Given the description of an element on the screen output the (x, y) to click on. 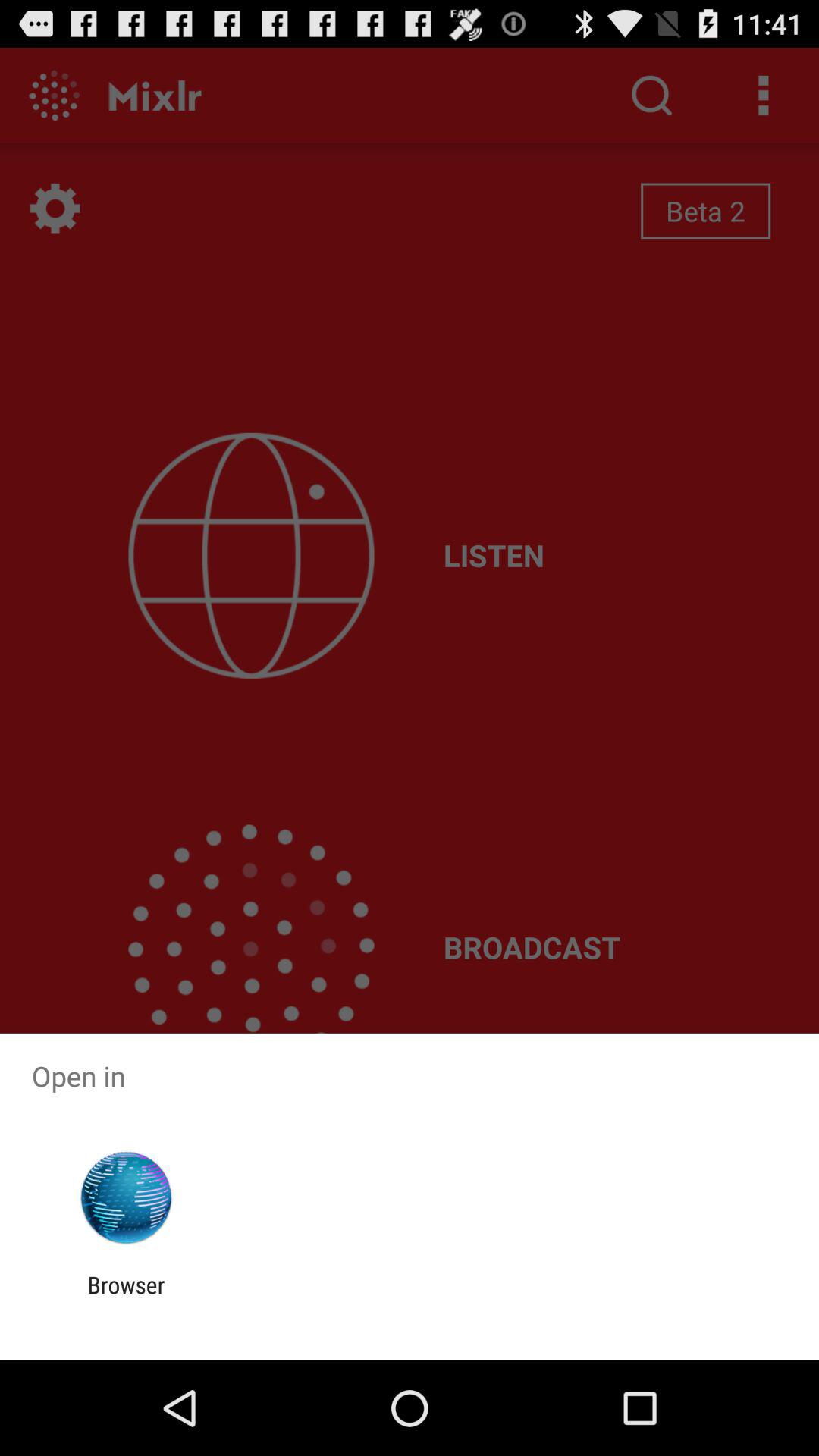
turn off the item above browser item (126, 1198)
